Given the description of an element on the screen output the (x, y) to click on. 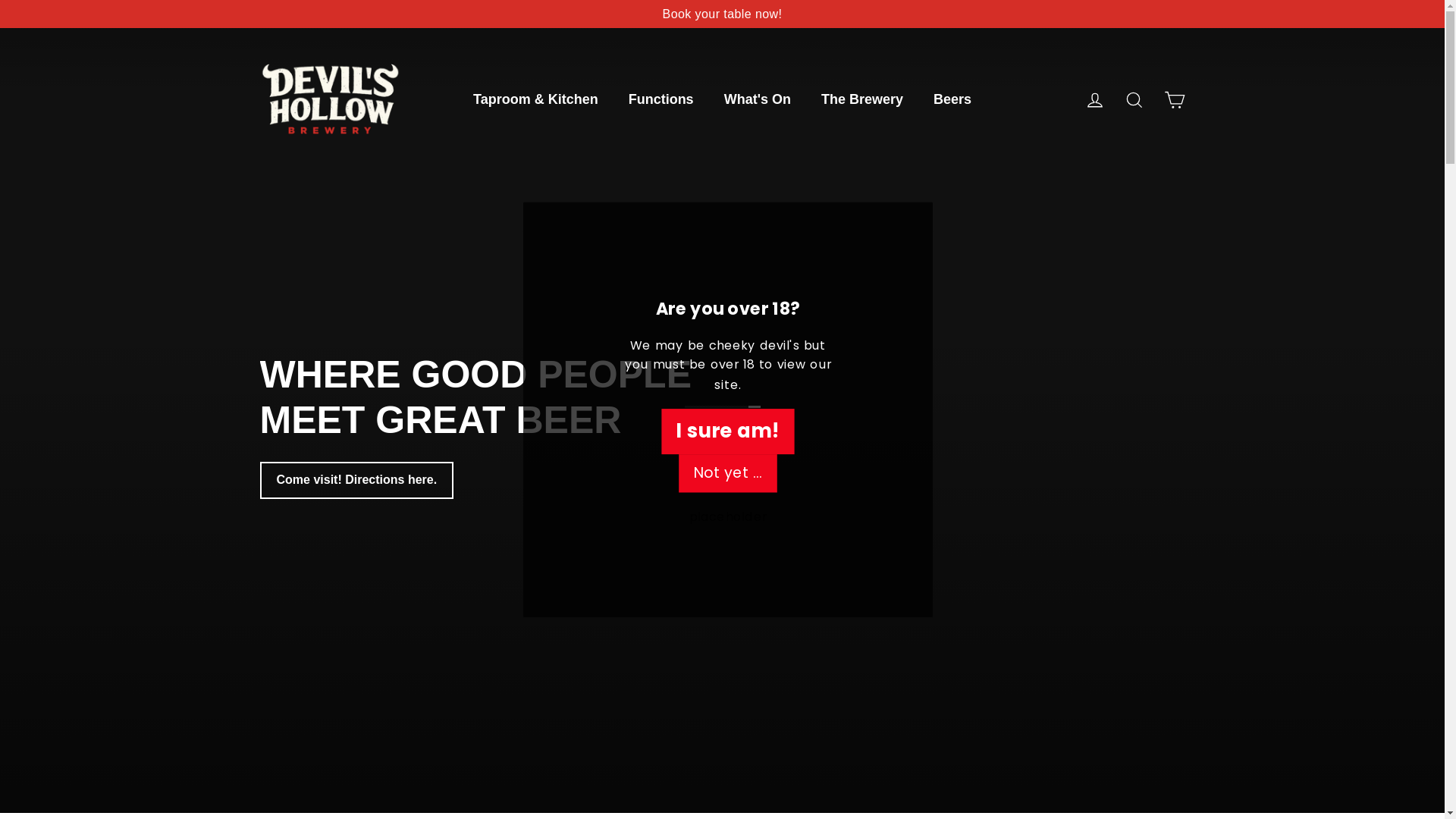
Beers Element type: text (952, 100)
Functions Element type: text (661, 100)
Come visit! Directions here. Element type: text (356, 479)
Skip to content Element type: text (0, 0)
What's On Element type: text (757, 100)
Book your table now! Element type: text (722, 14)
Log in Element type: text (1094, 99)
Search Element type: text (1134, 99)
Taproom & Kitchen Element type: text (535, 100)
Cart Element type: text (1173, 99)
The Brewery Element type: text (862, 100)
